Given the description of an element on the screen output the (x, y) to click on. 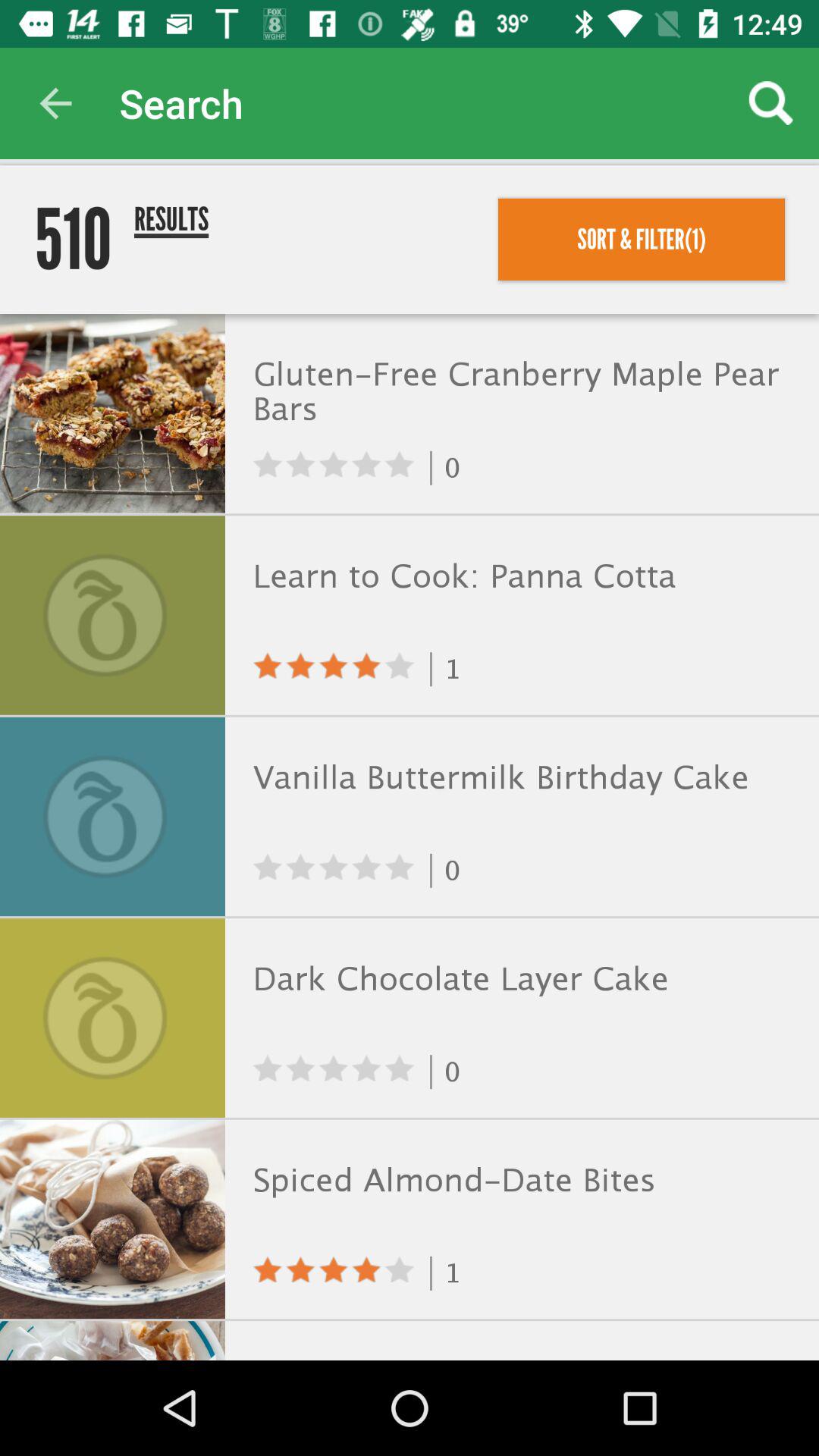
tap app to the left of the search (55, 103)
